Given the description of an element on the screen output the (x, y) to click on. 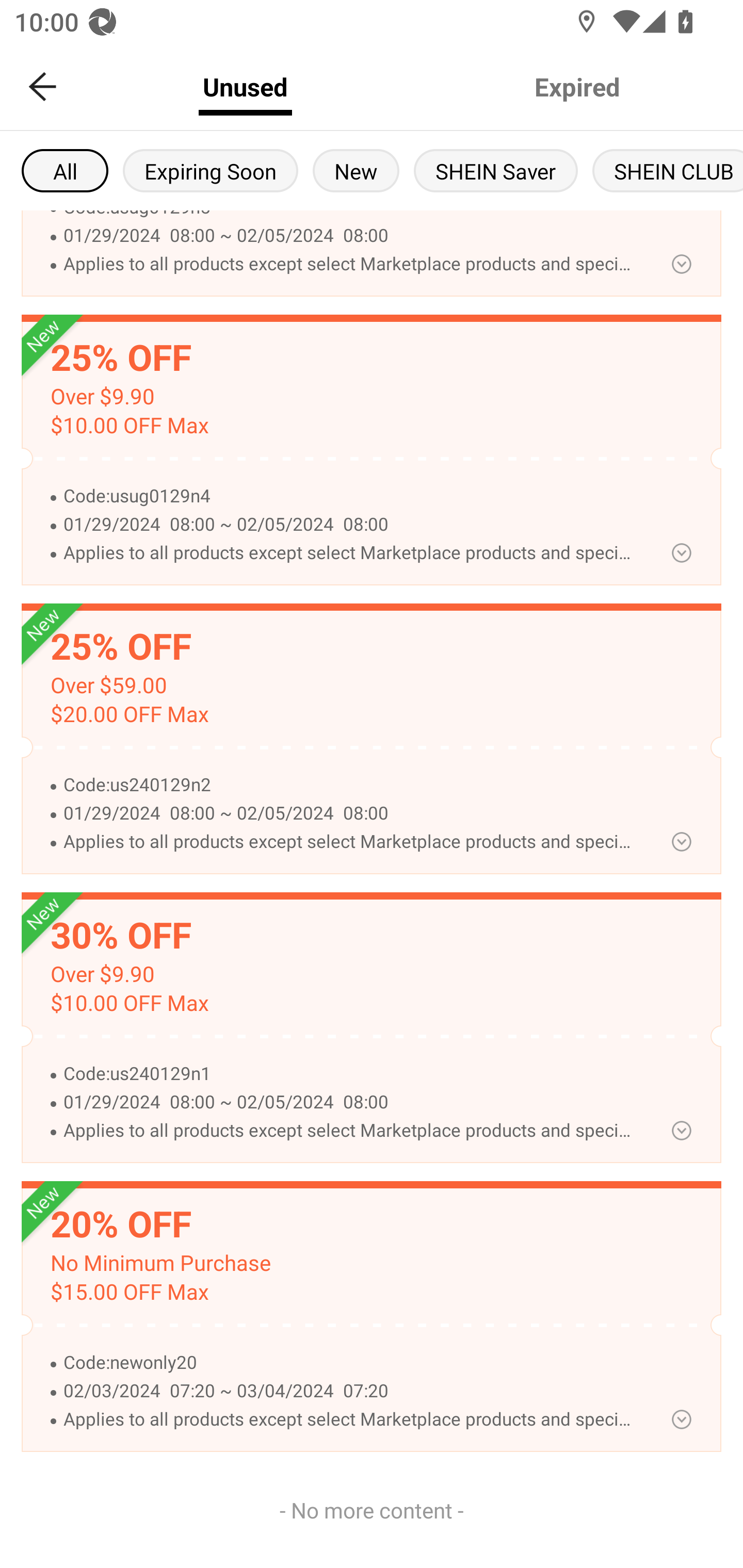
Unused (244, 86)
Expired (576, 86)
All (64, 170)
Expiring Soon (209, 170)
New (355, 170)
SHEIN Saver (495, 170)
SHEIN CLUB (667, 170)
01/29/2024  08:00 ~ 02/05/2024  08:00 (350, 235)
Pack up (681, 264)
$10.00 OFF Max (129, 425)
Code:usug0129n4 (350, 496)
01/29/2024  08:00 ~ 02/05/2024  08:00 (350, 524)
Pack up (681, 552)
$20.00 OFF Max (129, 714)
Code:us240129n2 (350, 785)
01/29/2024  08:00 ~ 02/05/2024  08:00 (350, 813)
Pack up (681, 841)
$10.00 OFF Max (129, 1003)
Code:us240129n1 (350, 1074)
01/29/2024  08:00 ~ 02/05/2024  08:00 (350, 1102)
Pack up (681, 1130)
$15.00 OFF Max (129, 1291)
Code:newonly20 (350, 1362)
02/03/2024  07:20 ~ 03/04/2024  07:20 (350, 1391)
Pack up (681, 1418)
